Given the description of an element on the screen output the (x, y) to click on. 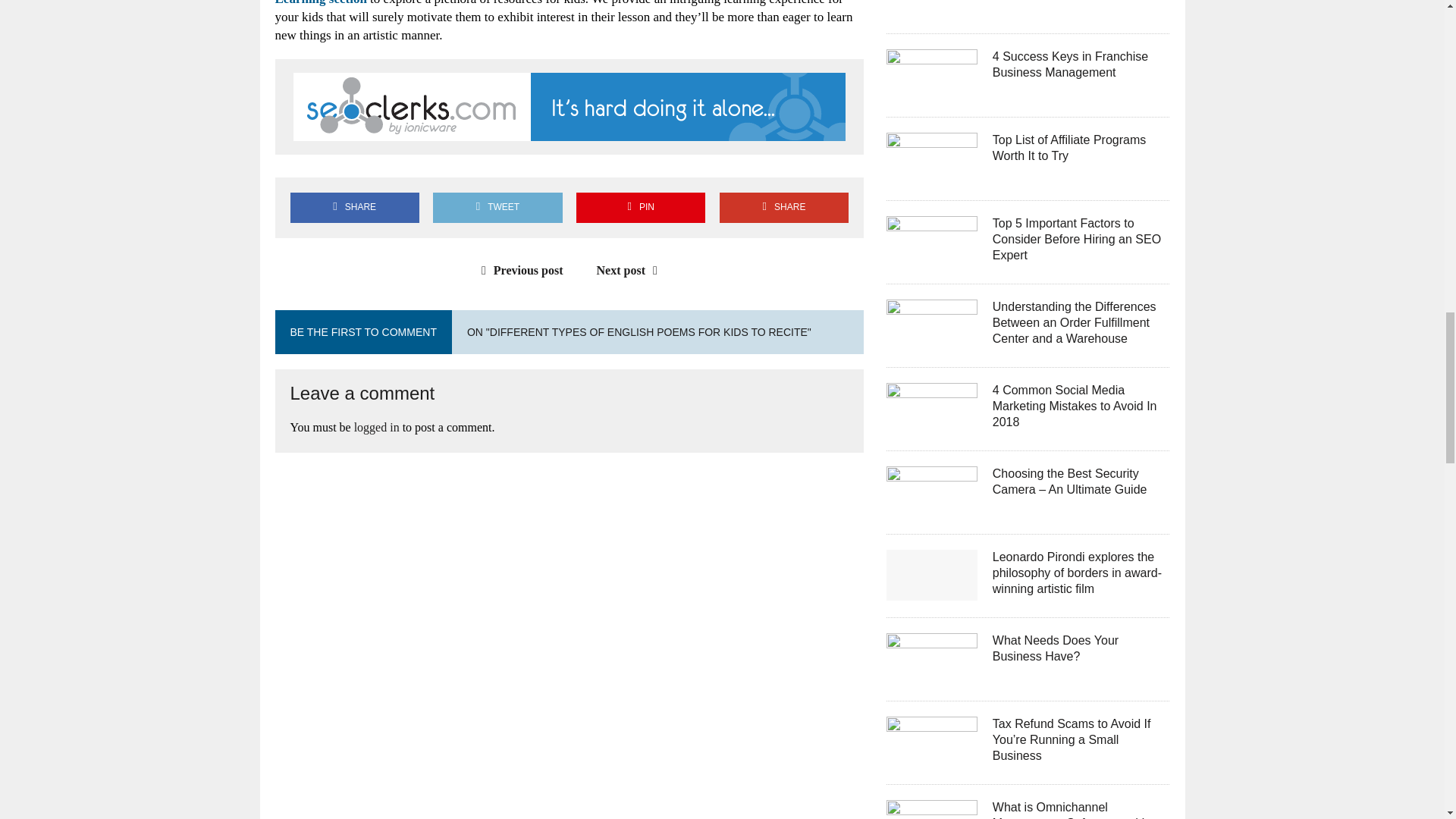
Pin This Post (640, 206)
Share on Facebook (354, 206)
Tweet This Post (497, 206)
